Given the description of an element on the screen output the (x, y) to click on. 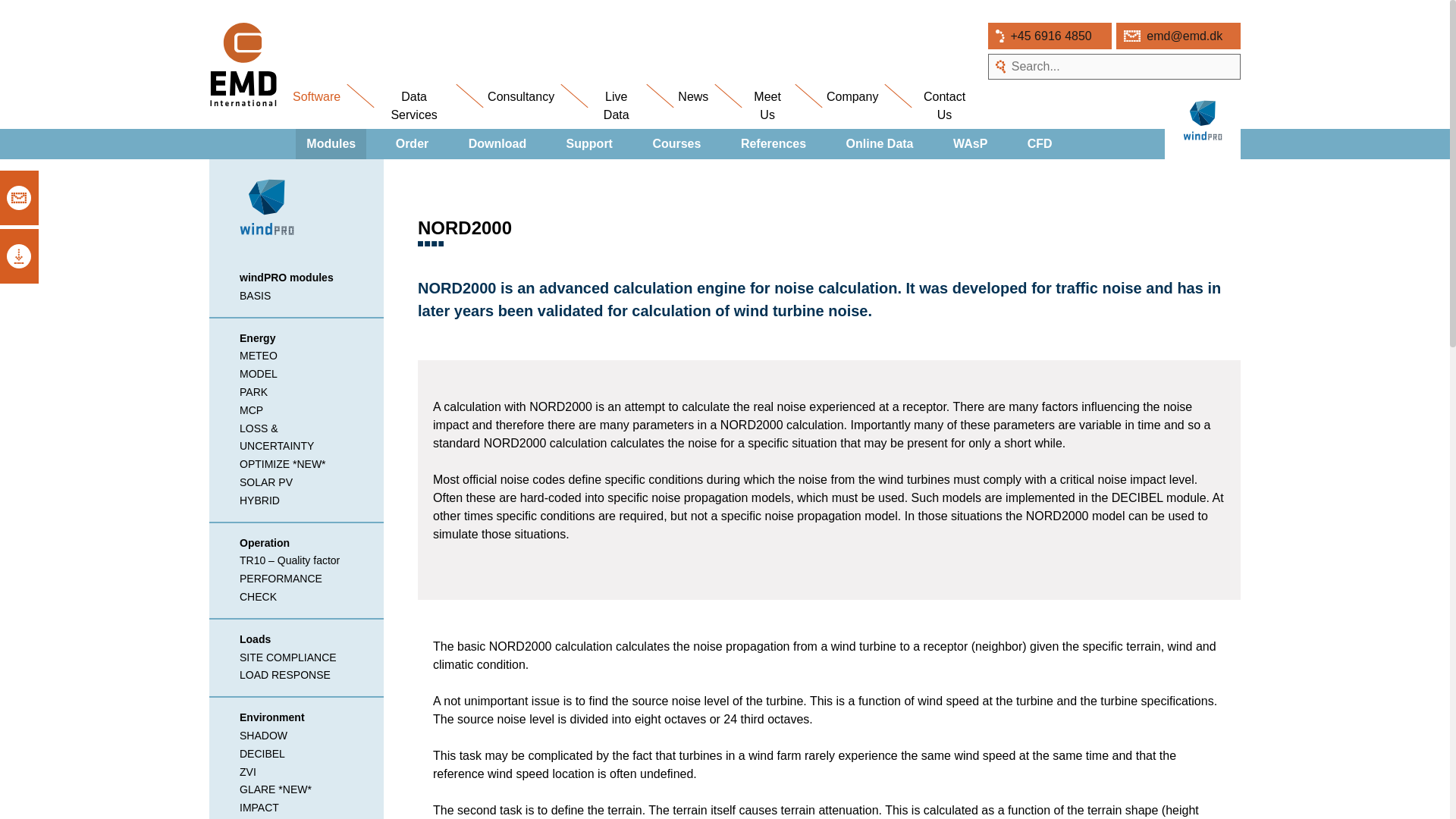
Contact Us (944, 109)
Support (589, 143)
WAsP (969, 143)
References (773, 143)
BASIS (255, 295)
News (692, 100)
CFD (1039, 143)
Online Data (879, 143)
Data Services (413, 109)
Company (851, 100)
Courses (676, 143)
Meet Us (766, 109)
Order (412, 143)
Download (497, 143)
Modules (330, 143)
